Given the description of an element on the screen output the (x, y) to click on. 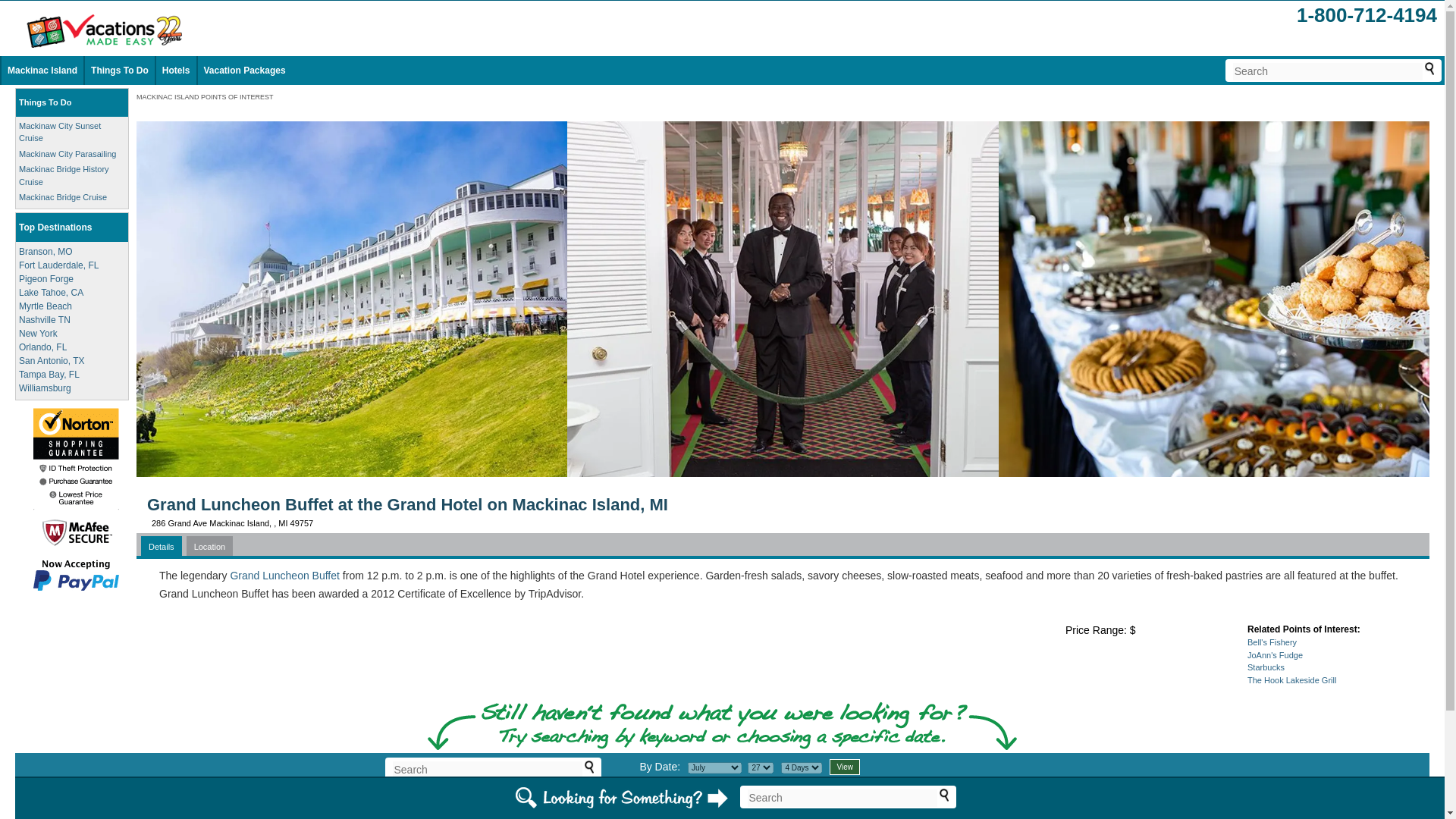
Nashville TN (43, 318)
Things To Do (44, 102)
The Hook Lakeside Grill (1291, 679)
Vacation Packages (244, 70)
Grand Luncheon Buffet (284, 575)
Mackinaw City Parasailing (67, 153)
Williamsburg (44, 387)
Mackinac Island (42, 70)
MACKINAC ISLAND POINTS OF INTEREST (204, 96)
Starbucks (1265, 666)
San Antonio, TX (51, 359)
Pigeon Forge (46, 277)
Mackinaw City Sunset Cruise (59, 132)
Bell's Fishery (1272, 642)
Hotels (175, 70)
